Given the description of an element on the screen output the (x, y) to click on. 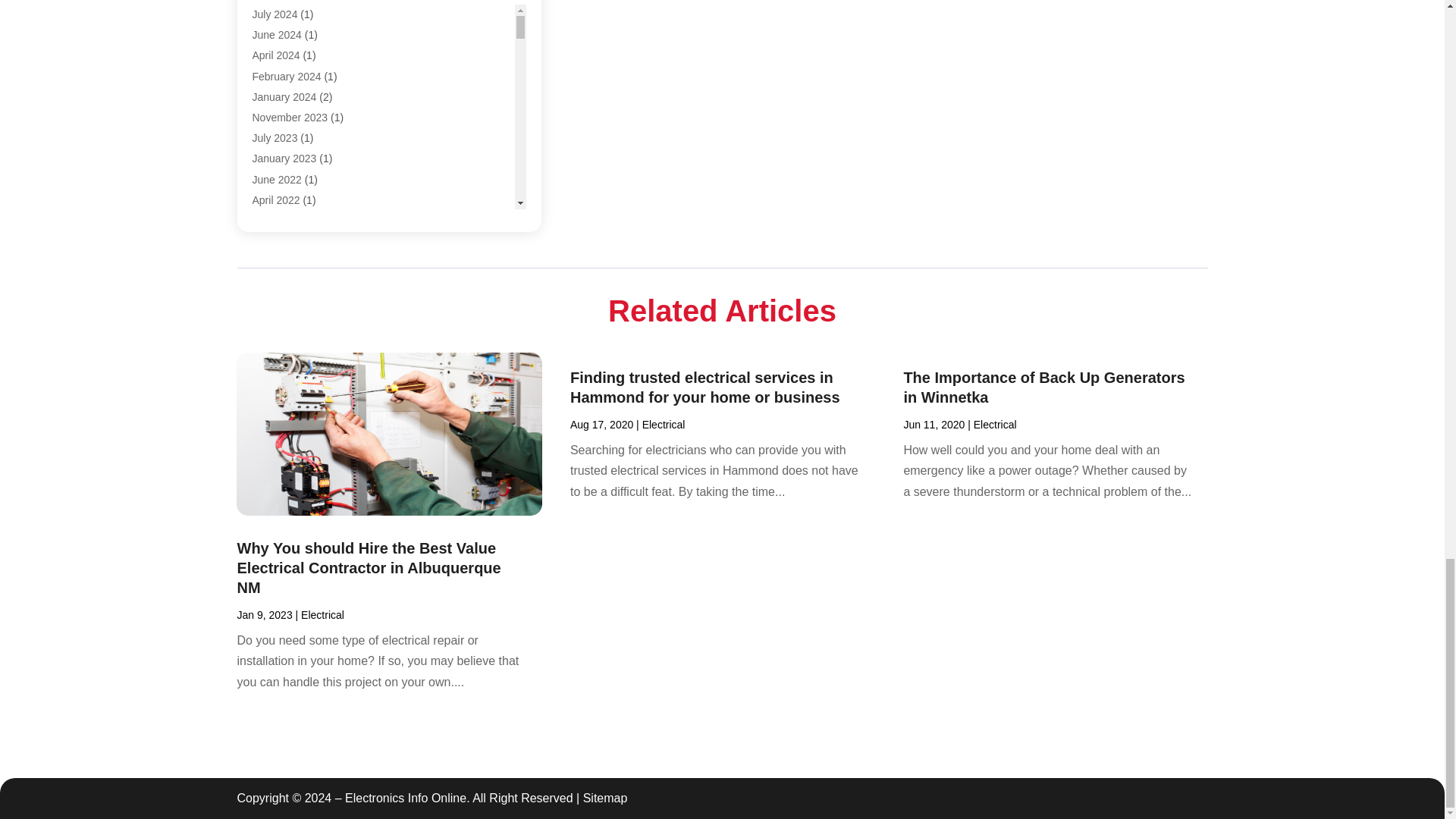
Gold Dealer (279, 2)
